Given the description of an element on the screen output the (x, y) to click on. 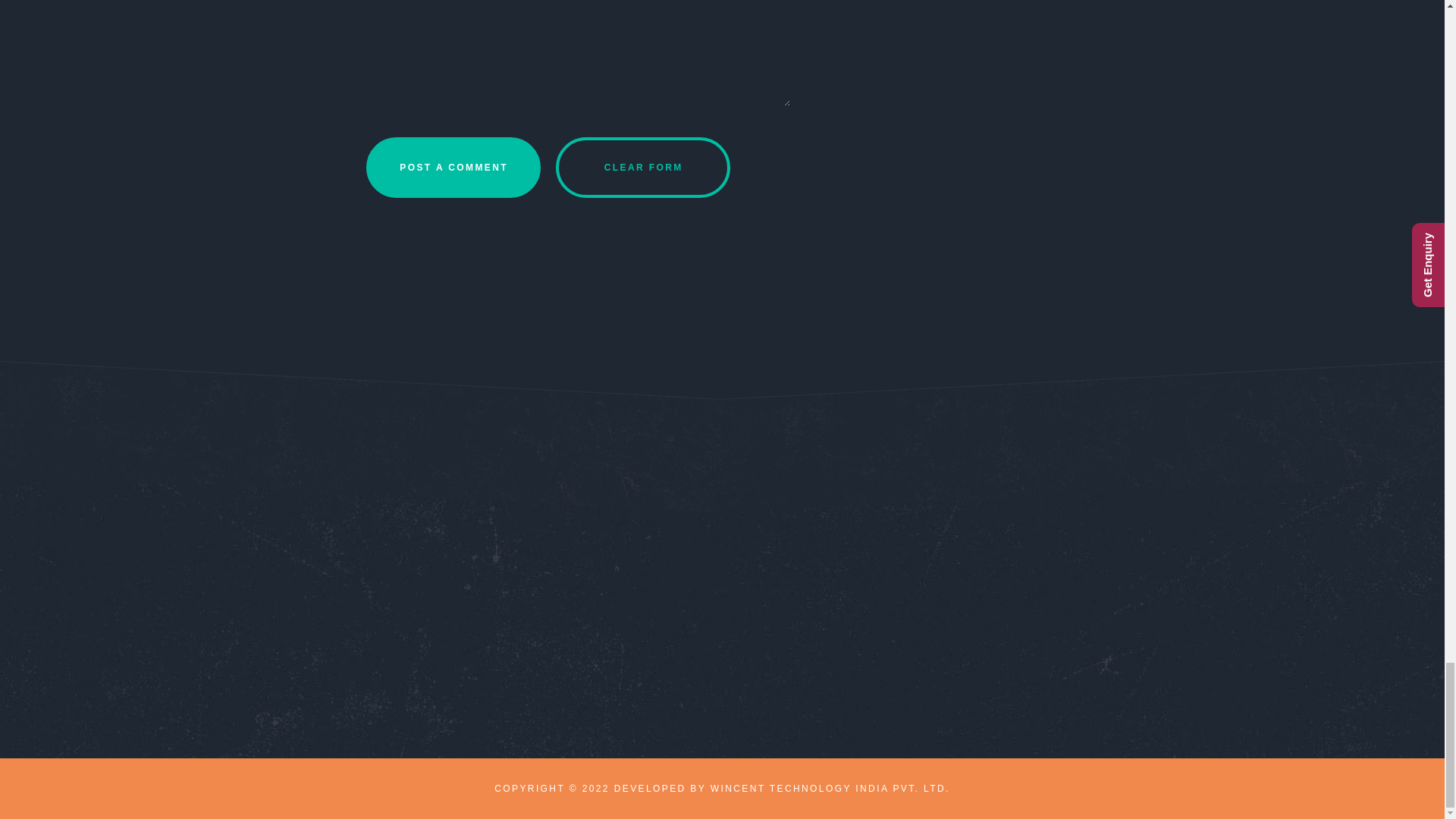
Post a comment (452, 167)
Clear Form (641, 167)
